Given the description of an element on the screen output the (x, y) to click on. 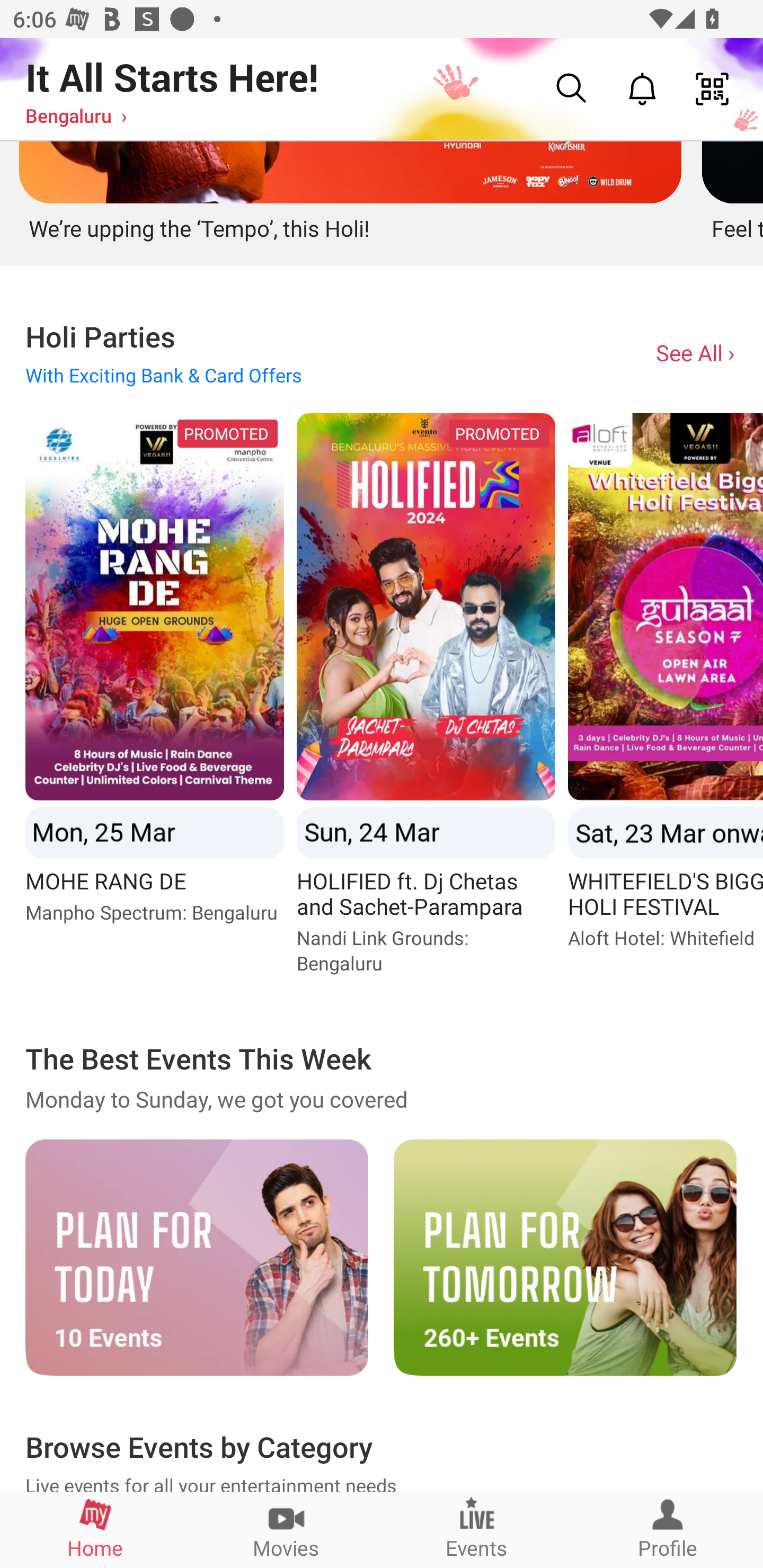
Bengaluru  › (76, 114)
We’re upping the ‘Tempo’, this Holi!  (347, 195)
See All › (696, 351)
MOHE RANG DE Manpho Spectrum: Bengaluru PROMOTED (154, 700)
Home (95, 1529)
Movies (285, 1529)
Events (476, 1529)
Profile (667, 1529)
